Given the description of an element on the screen output the (x, y) to click on. 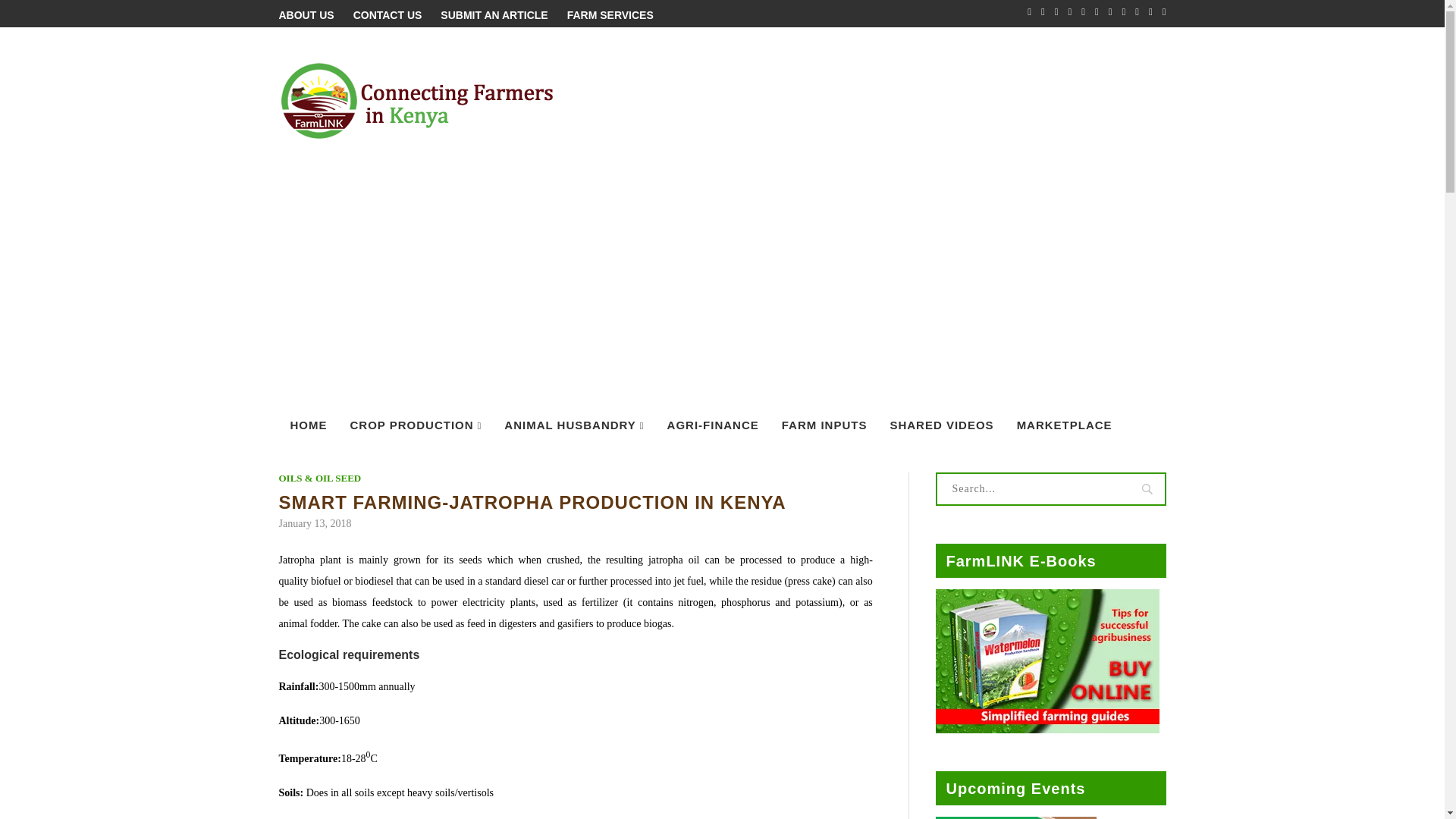
ABOUT US (306, 15)
HOME (309, 425)
SUBMIT AN ARTICLE (494, 15)
CONTACT US (387, 15)
FARM SERVICES (610, 15)
